Given the description of an element on the screen output the (x, y) to click on. 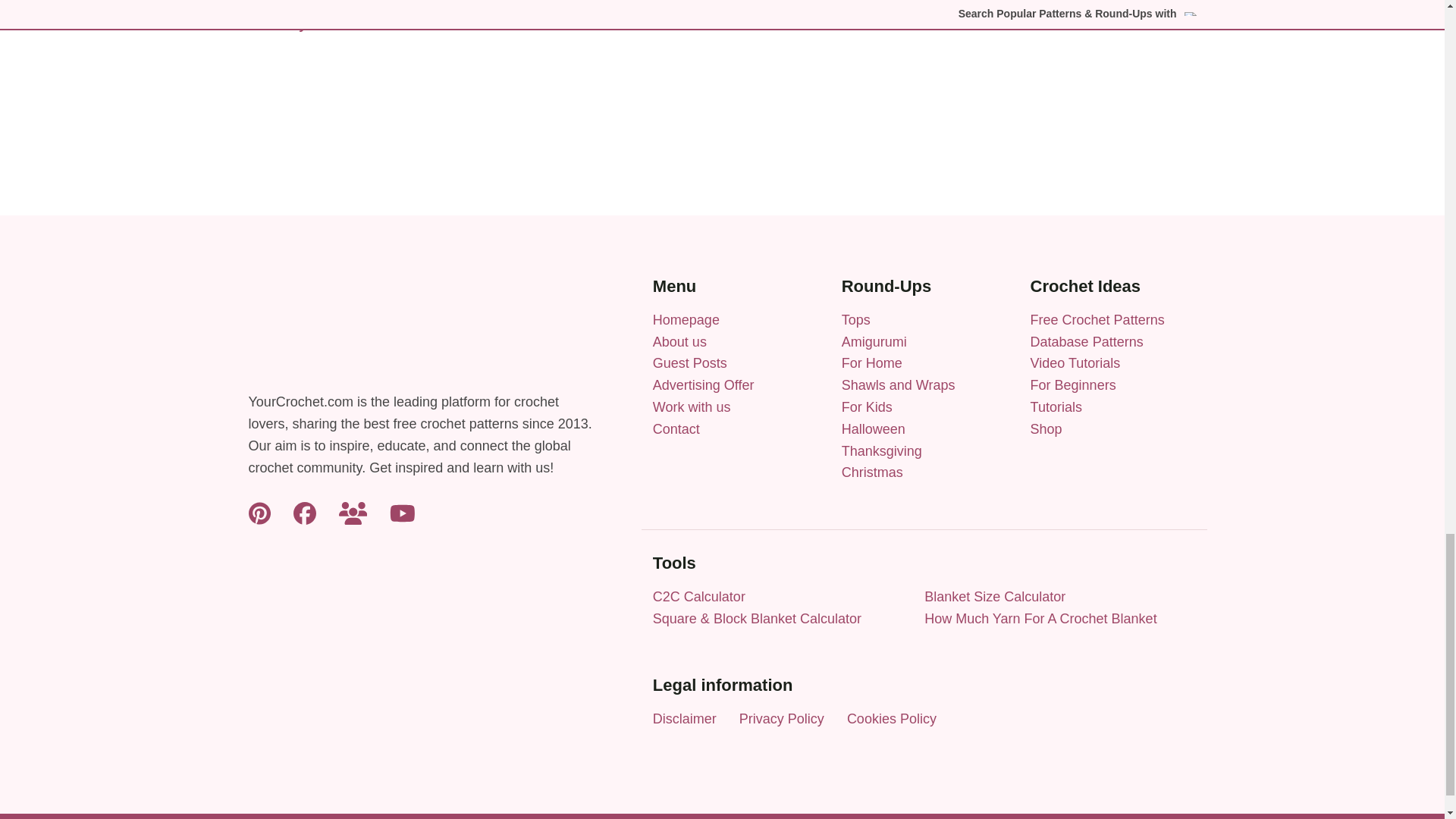
Round-Up For Kids (866, 406)
Contact (676, 428)
Pinterest YourCrochet (259, 511)
Youtube YourCrochet (402, 511)
Advertising Offer (703, 385)
Round-Up Amigurumi (874, 341)
Round-Up Shawls and Wraps (898, 385)
Guest Posts (689, 363)
Facebook YourCrochet (304, 511)
Facebook Group YourCrochet (353, 511)
